Given the description of an element on the screen output the (x, y) to click on. 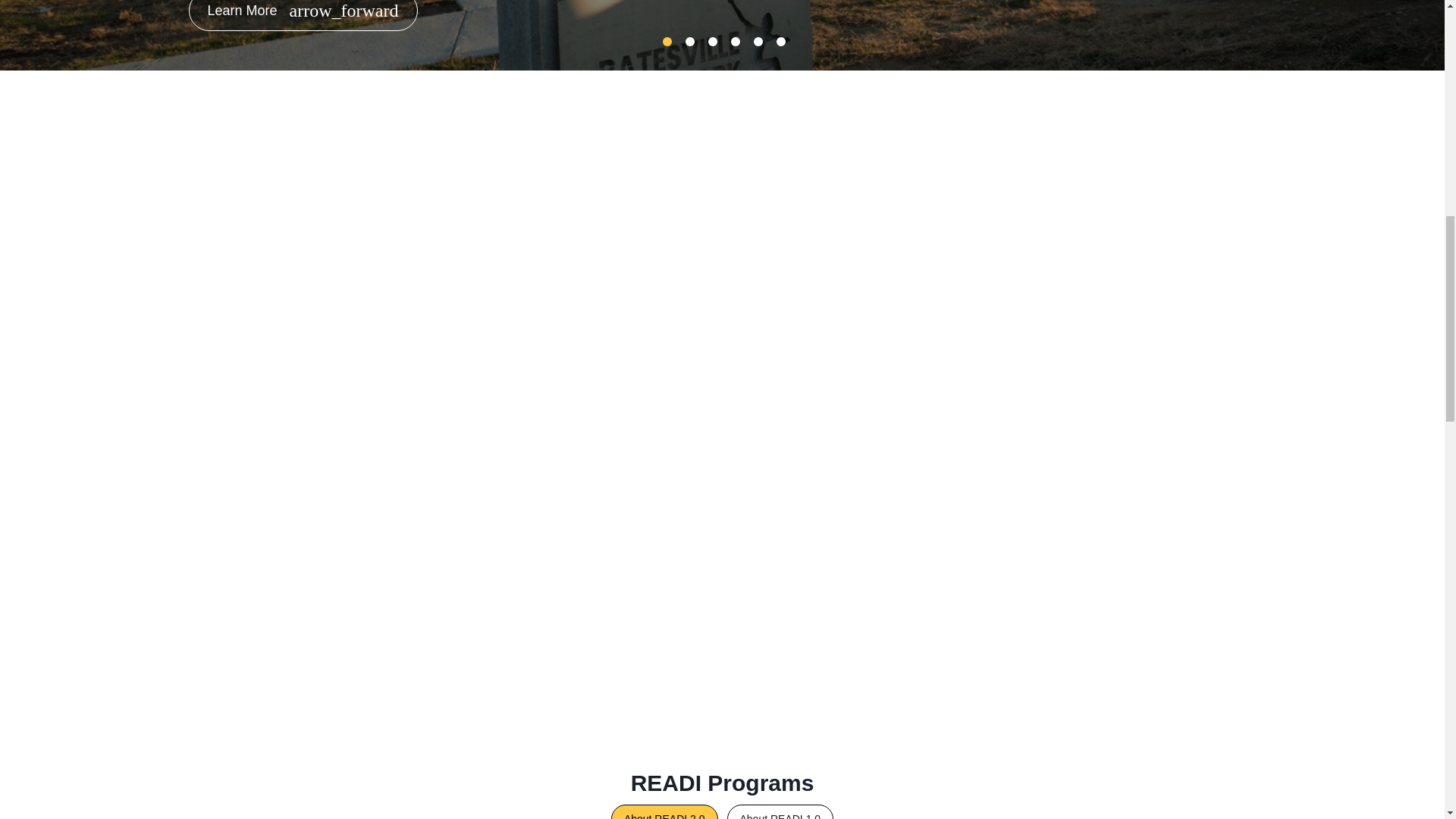
4 (734, 40)
About READI 1.0 (779, 811)
2 (689, 40)
1 (666, 40)
About READI 2.0 (664, 811)
6 (781, 40)
3 (712, 40)
5 (758, 40)
